Given the description of an element on the screen output the (x, y) to click on. 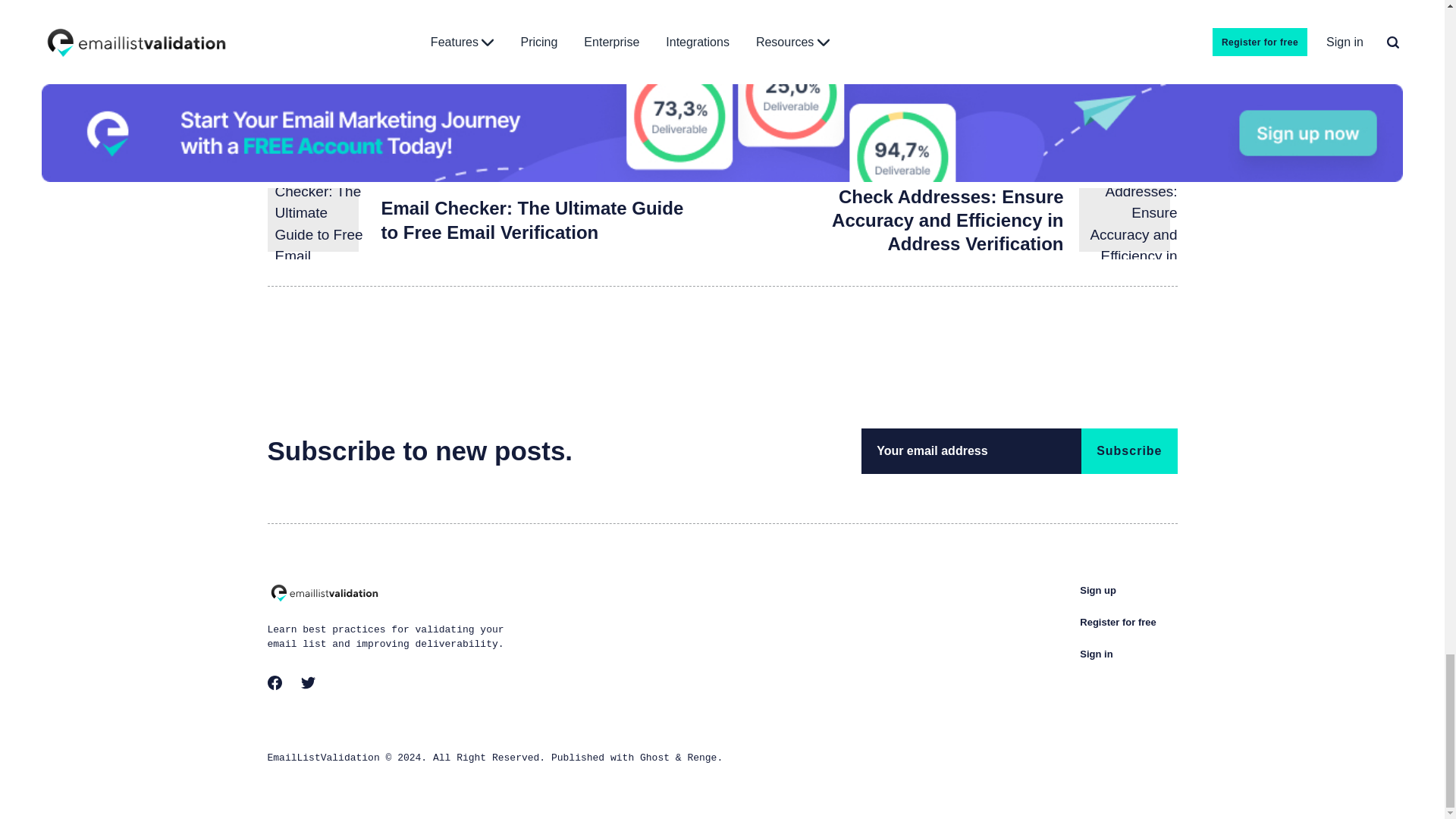
Sign in (1096, 654)
Subscribe (1128, 451)
Email Checker: The Ultimate Guide to Free Email Verification (531, 220)
Sign up (1098, 590)
Register for free (1118, 622)
